Given the description of an element on the screen output the (x, y) to click on. 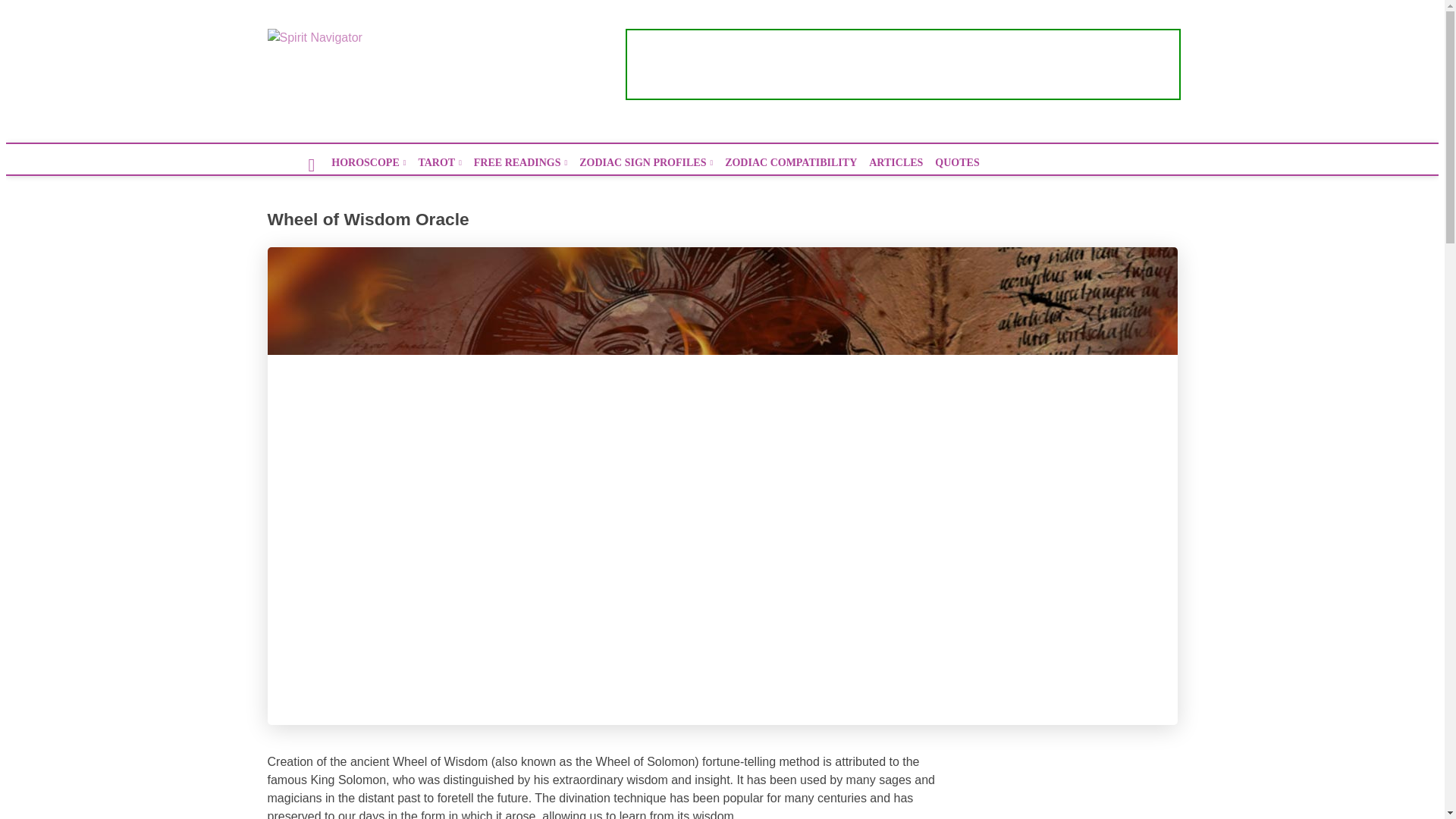
ZODIAC SIGN PROFILES (646, 162)
HOROSCOPE (368, 162)
TAROT (439, 162)
Menu (1165, 74)
HOME (310, 171)
FREE READINGS (520, 162)
Home (310, 171)
